Given the description of an element on the screen output the (x, y) to click on. 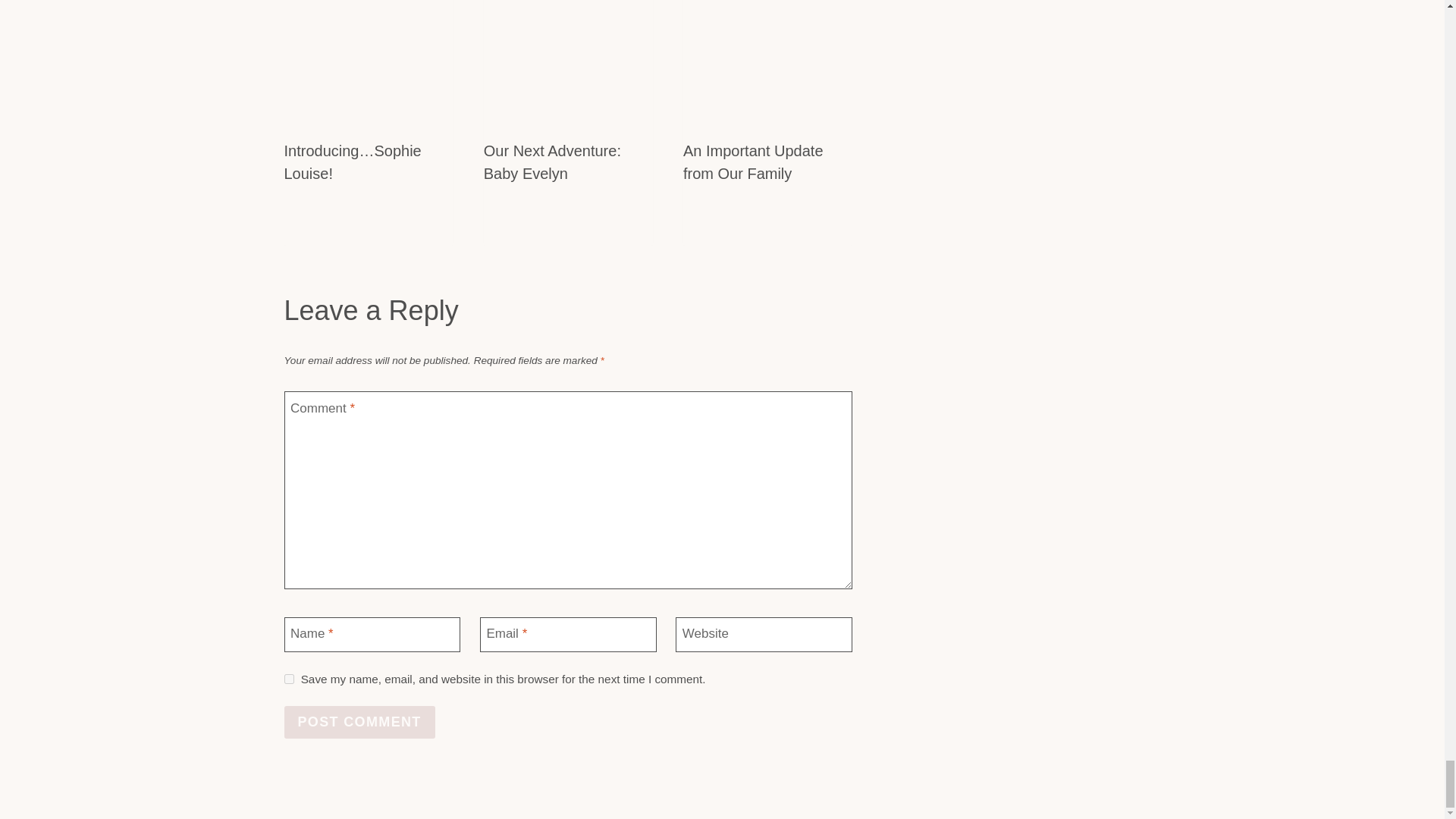
yes (288, 678)
Post Comment (358, 721)
